Given the description of an element on the screen output the (x, y) to click on. 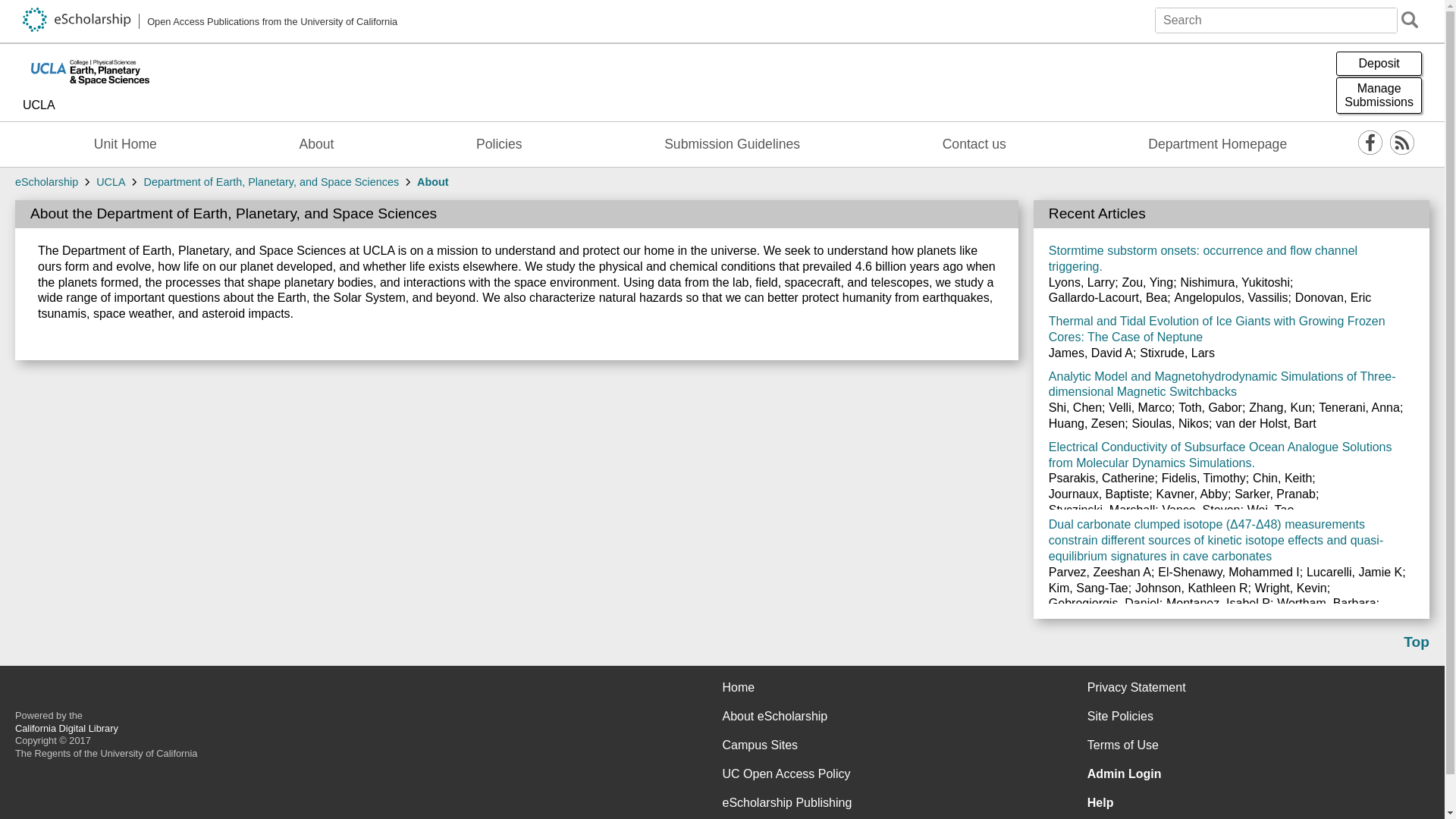
eScholarship (46, 182)
Sioulas, Nikos (1170, 422)
Velli, Marco (1140, 407)
Deposit (1379, 63)
About (315, 143)
UCLA (90, 105)
James, David A (1090, 352)
Unit Home (124, 143)
Department of Earth, Planetary, and Space Sciences (271, 182)
Policies (498, 143)
